Given the description of an element on the screen output the (x, y) to click on. 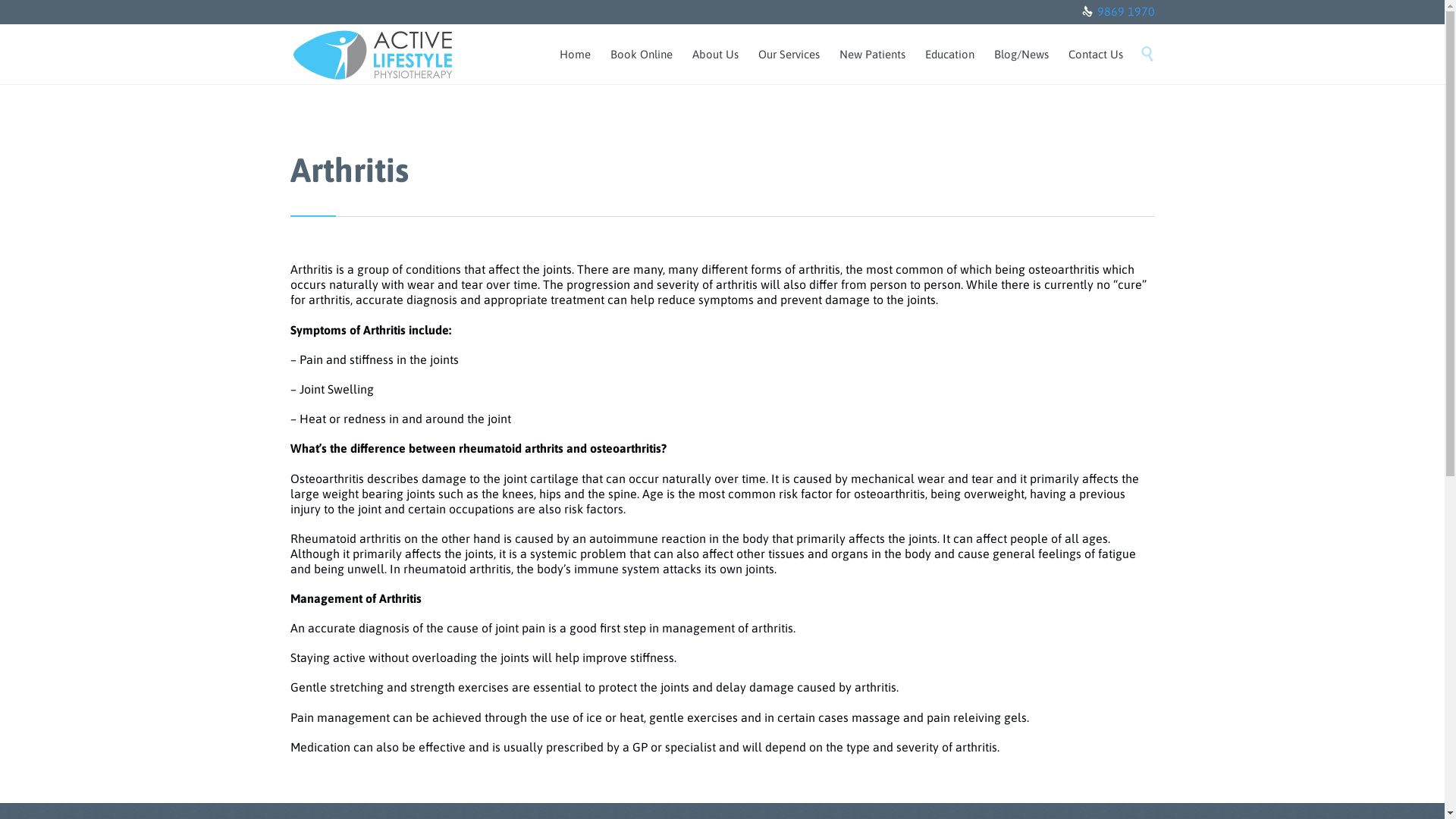
Skip to content Element type: text (1134, 37)
Blog/News Element type: text (1021, 55)
9869 1970 Element type: text (1125, 11)
Education Element type: text (948, 55)
Home Element type: text (574, 55)
Book Online Element type: text (641, 55)
Contact Us Element type: text (1095, 55)
About Us Element type: text (715, 55)
Our Services Element type: text (787, 55)
New Patients Element type: text (872, 55)
